Given the description of an element on the screen output the (x, y) to click on. 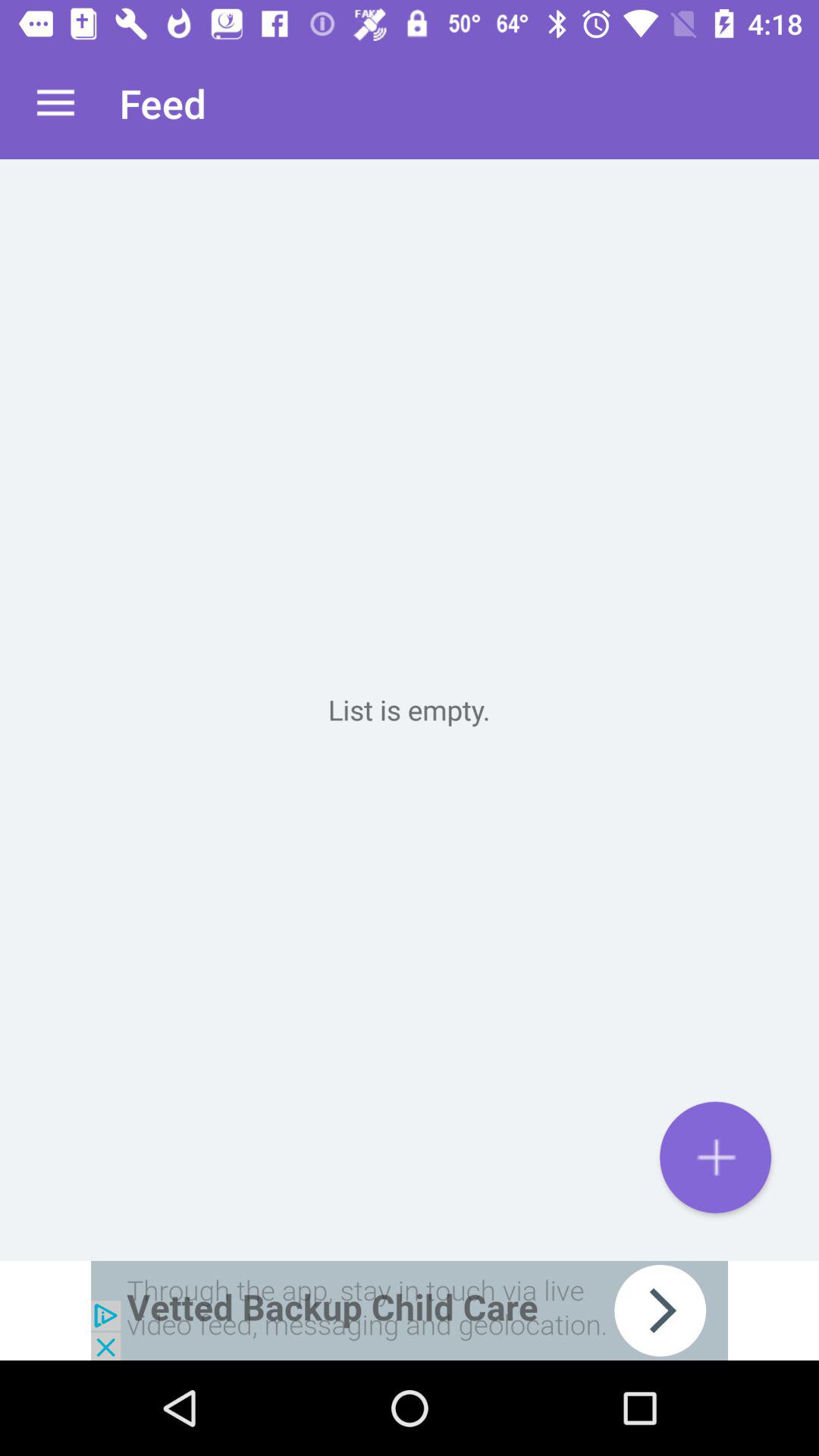
add to list (715, 1157)
